Given the description of an element on the screen output the (x, y) to click on. 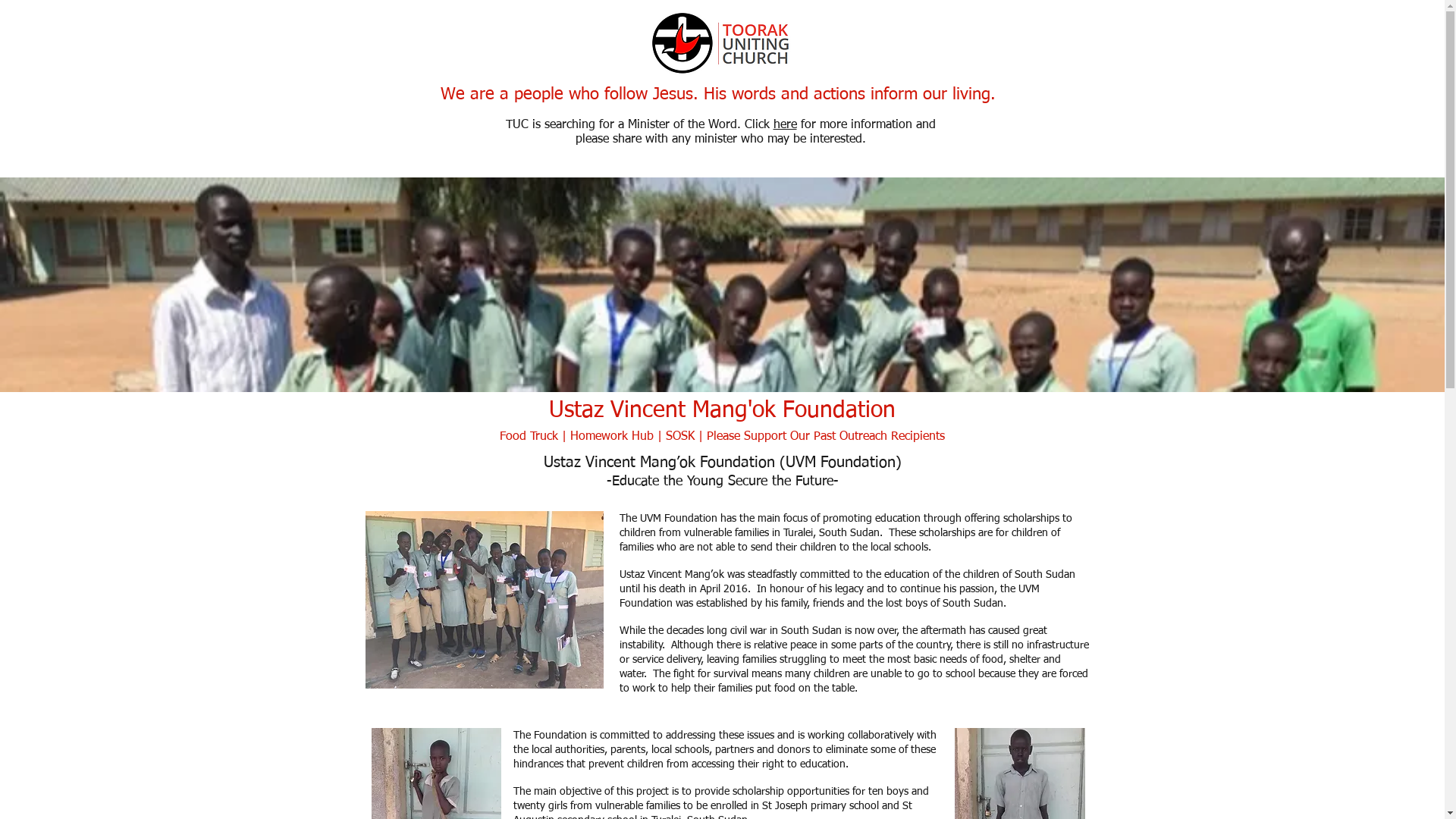
Food Truck Element type: text (528, 436)
omework Hub Element type: text (615, 436)
here Element type: text (785, 125)
 Please Support Our Past Outreach Recipients Element type: text (823, 436)
SOSK Element type: text (679, 436)
UC + TUC.png Element type: hover (721, 40)
